Given the description of an element on the screen output the (x, y) to click on. 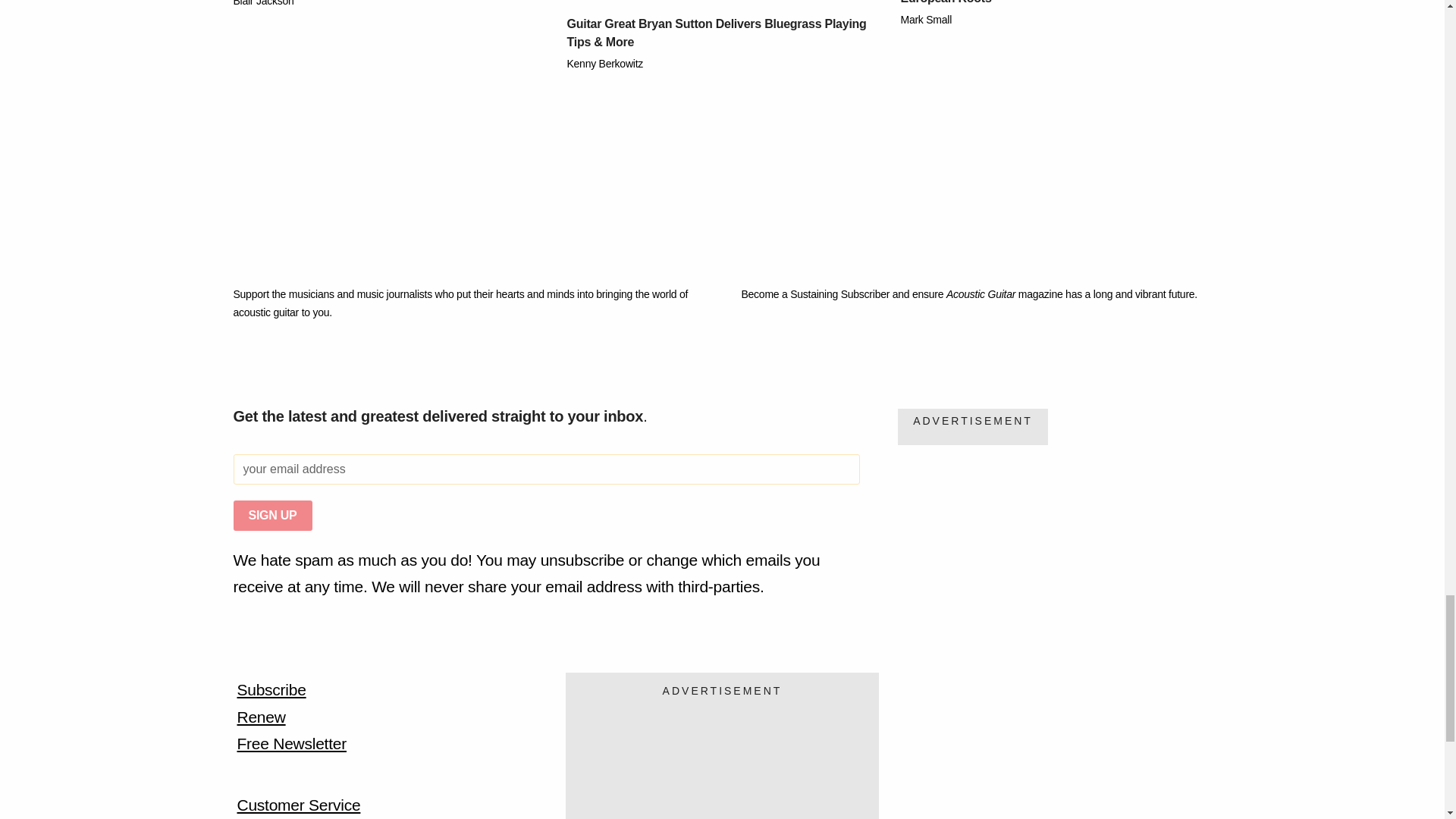
Posts by Kenny Berkowitz (605, 63)
Posts by Blair Jackson (263, 3)
your email address (546, 469)
Posts by Mark Small (926, 19)
